Given the description of an element on the screen output the (x, y) to click on. 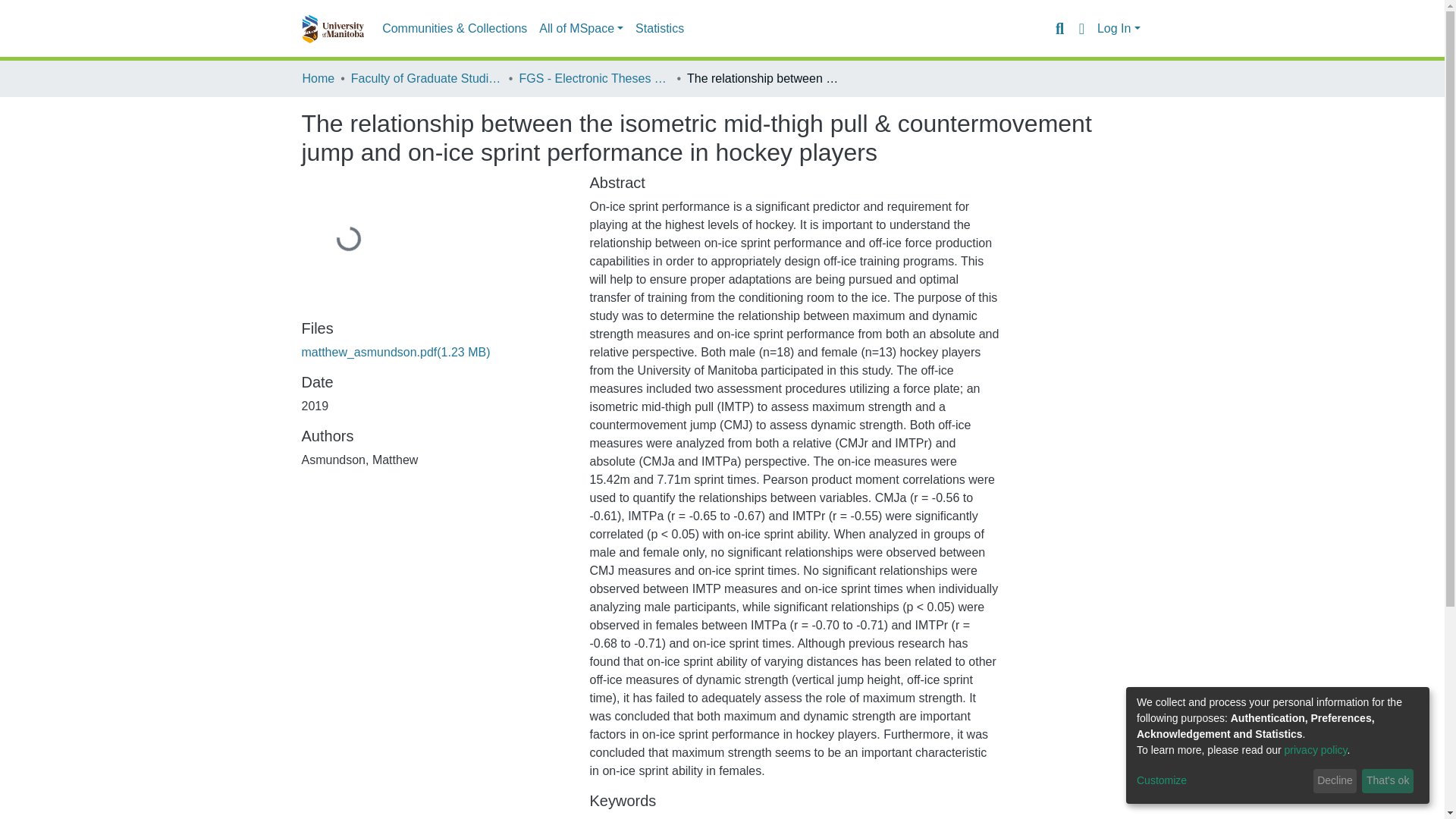
Home (317, 78)
Log In (1118, 28)
Customize (1222, 780)
Statistics (659, 28)
FGS - Electronic Theses and Practica (593, 78)
privacy policy (1316, 749)
Language switch (1081, 28)
Decline (1334, 781)
Search (1058, 28)
Statistics (659, 28)
That's ok (1387, 781)
All of MSpace (580, 28)
